Given the description of an element on the screen output the (x, y) to click on. 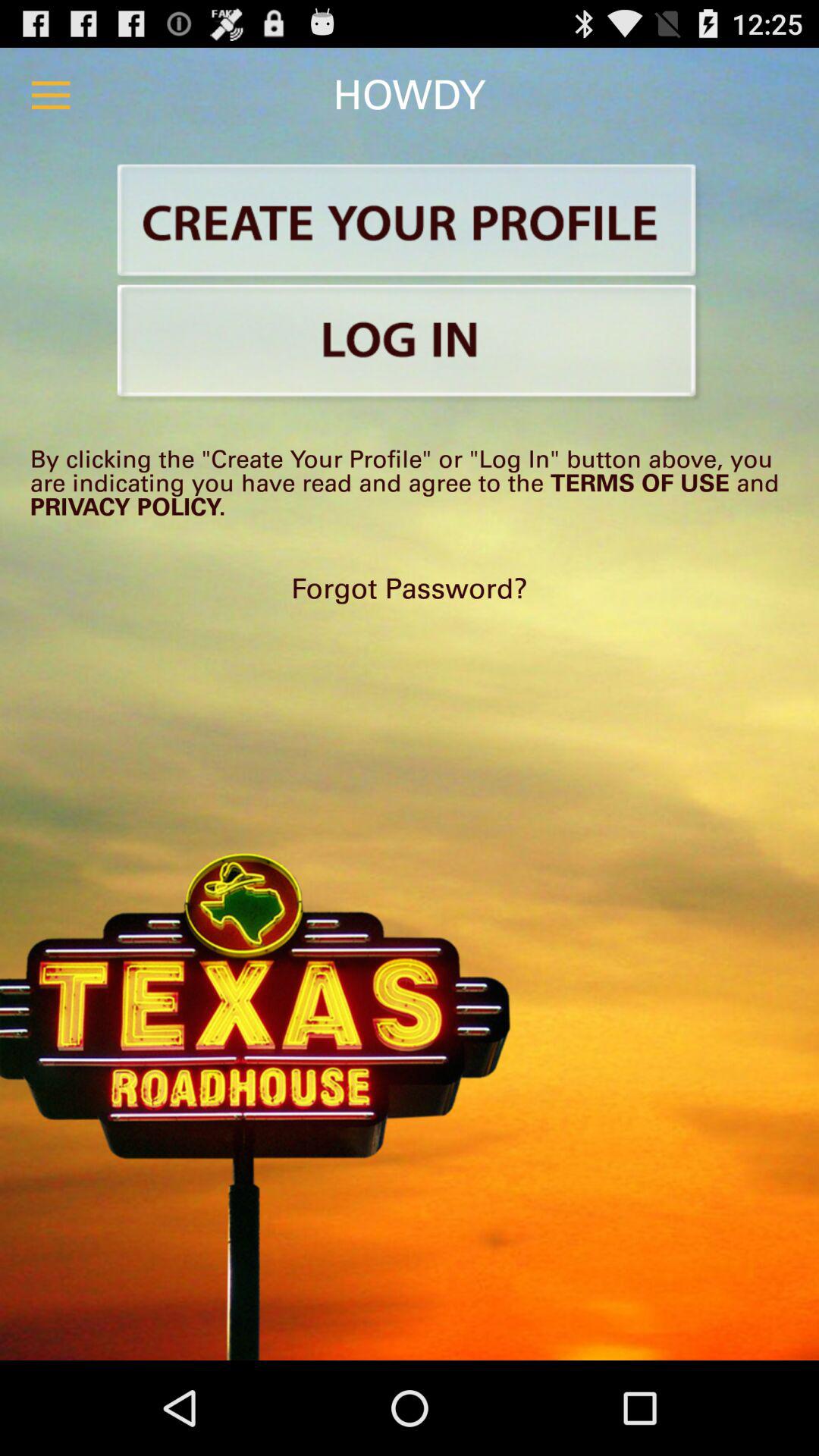
select forgot password? at the center (409, 588)
